Given the description of an element on the screen output the (x, y) to click on. 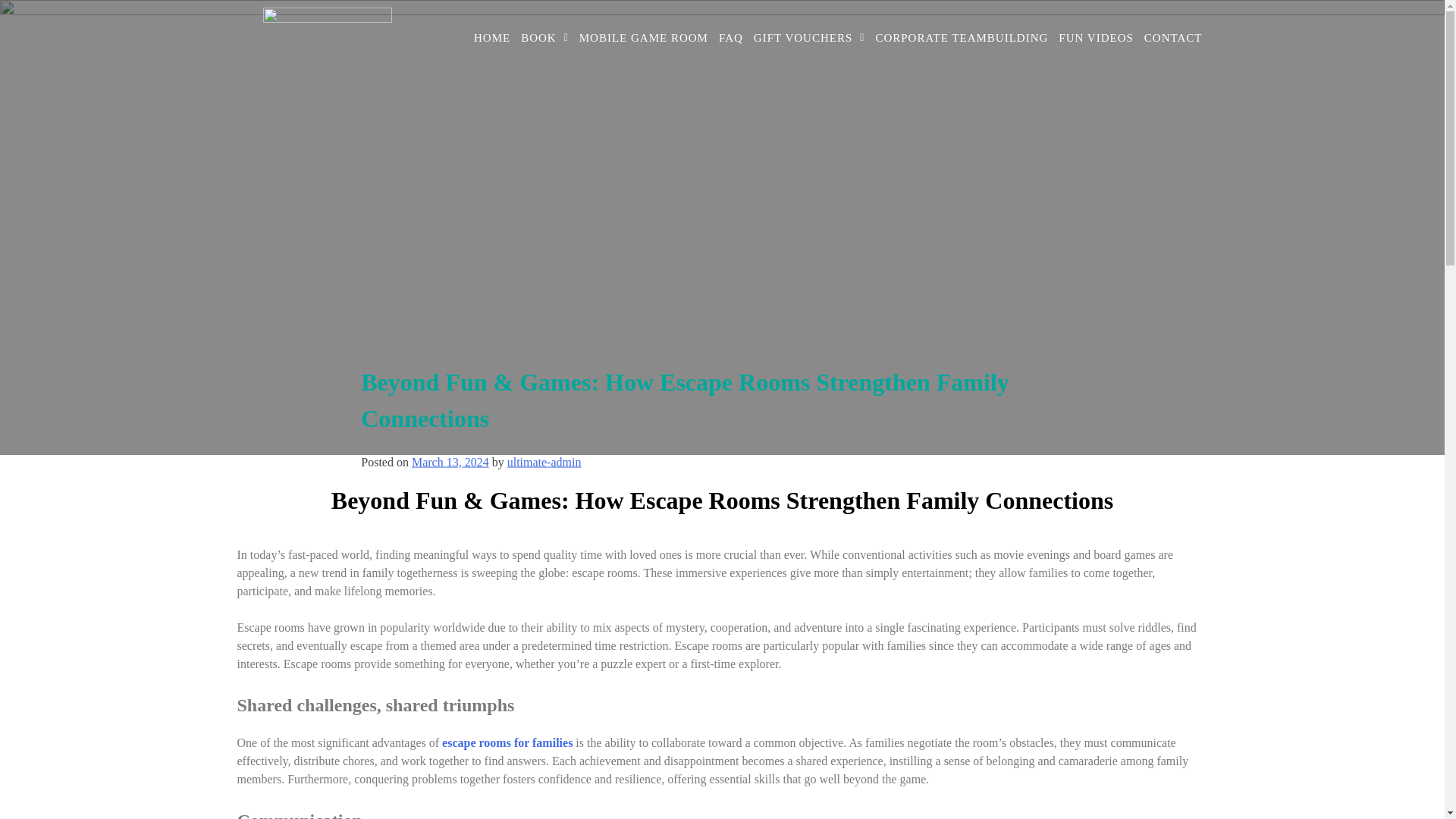
FUN VIDEOS (1095, 38)
BOOK (544, 38)
HOME (491, 38)
GIFT VOUCHERS (809, 38)
CONTACT (1173, 38)
MOBILE GAME ROOM (643, 38)
ultimate-admin (543, 461)
CORPORATE TEAMBUILDING (960, 38)
escape rooms for families (507, 742)
March 13, 2024 (450, 461)
FAQ (730, 38)
